Given the description of an element on the screen output the (x, y) to click on. 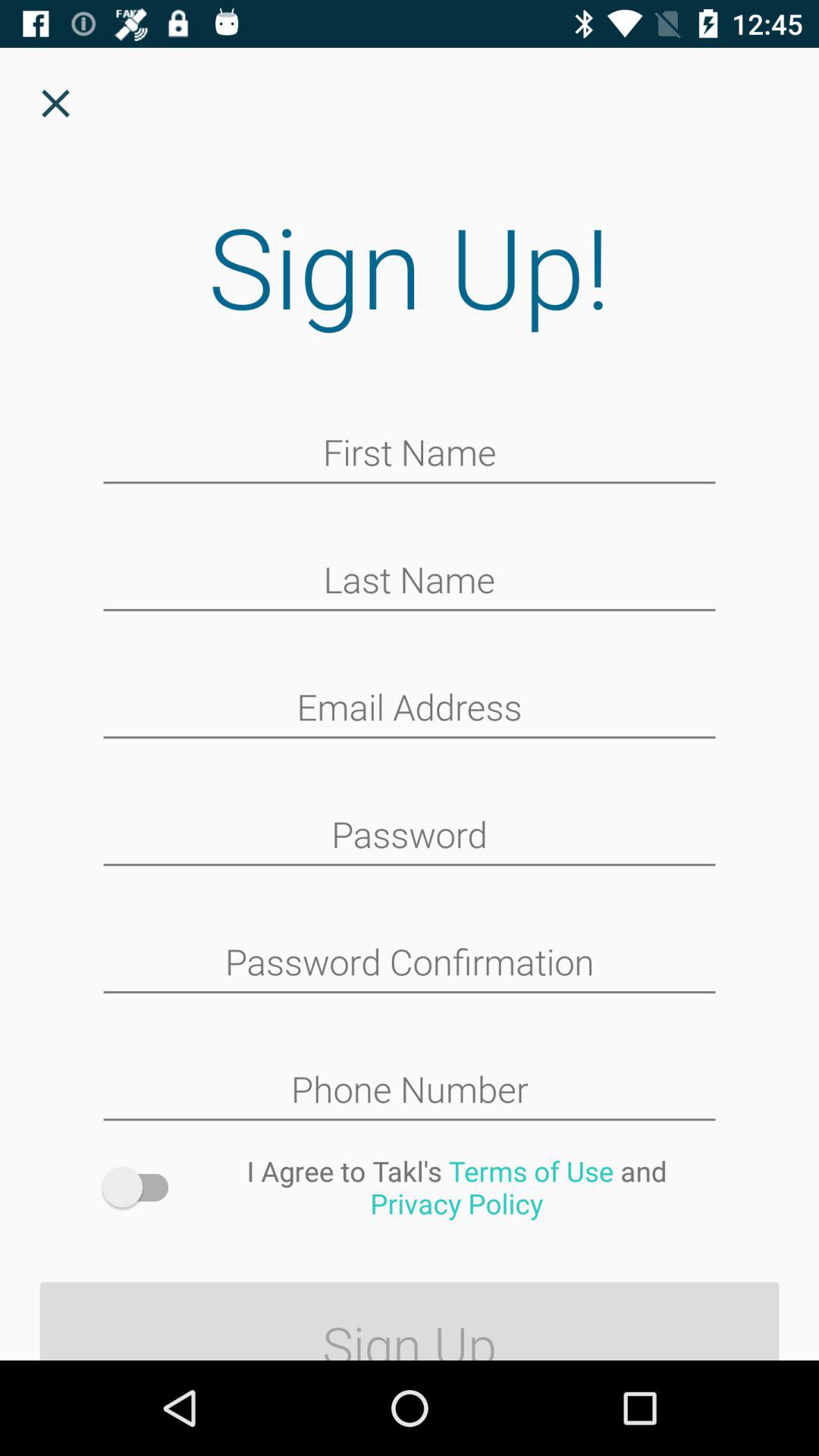
space to enter email address (409, 709)
